Given the description of an element on the screen output the (x, y) to click on. 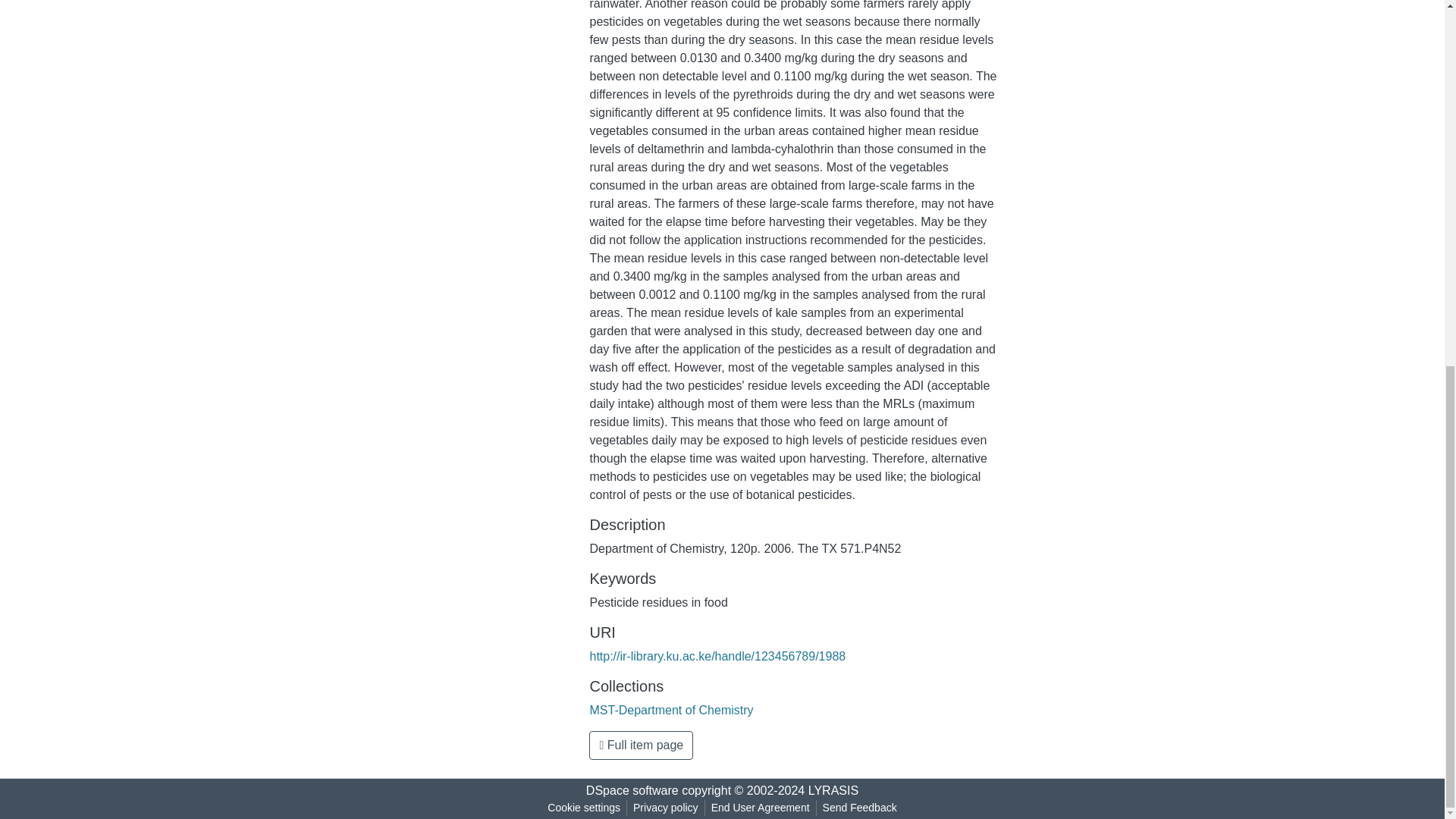
End User Agreement (759, 807)
DSpace software (632, 789)
LYRASIS (833, 789)
Full item page (641, 745)
Cookie settings (583, 807)
Privacy policy (665, 807)
Send Feedback (859, 807)
MST-Department of Chemistry (670, 709)
